Given the description of an element on the screen output the (x, y) to click on. 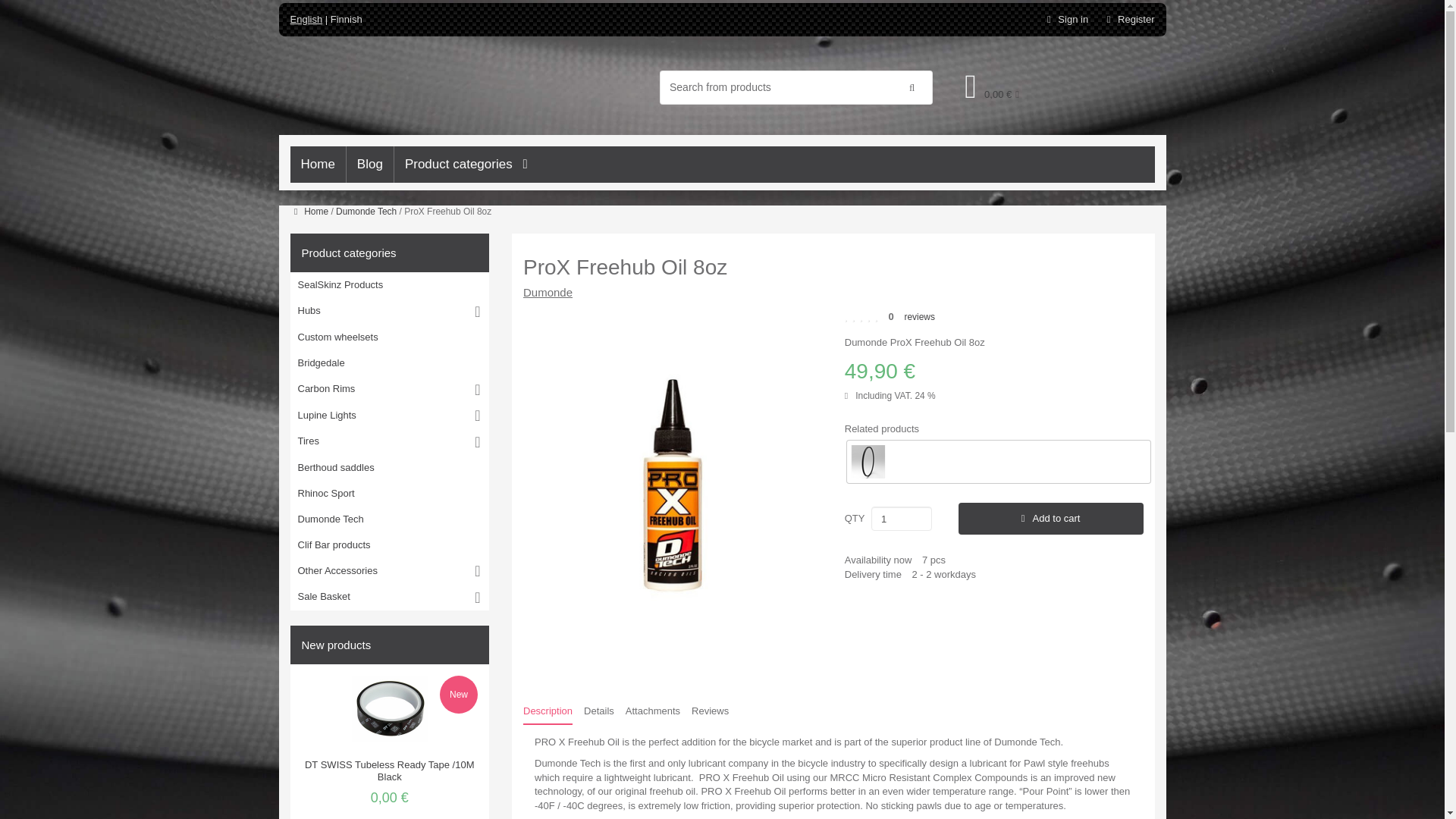
Finnish (346, 20)
1 (900, 518)
Sign in (1069, 19)
Blog (369, 164)
Product categories (460, 164)
English (305, 20)
Home (317, 164)
Register (1128, 19)
